Given the description of an element on the screen output the (x, y) to click on. 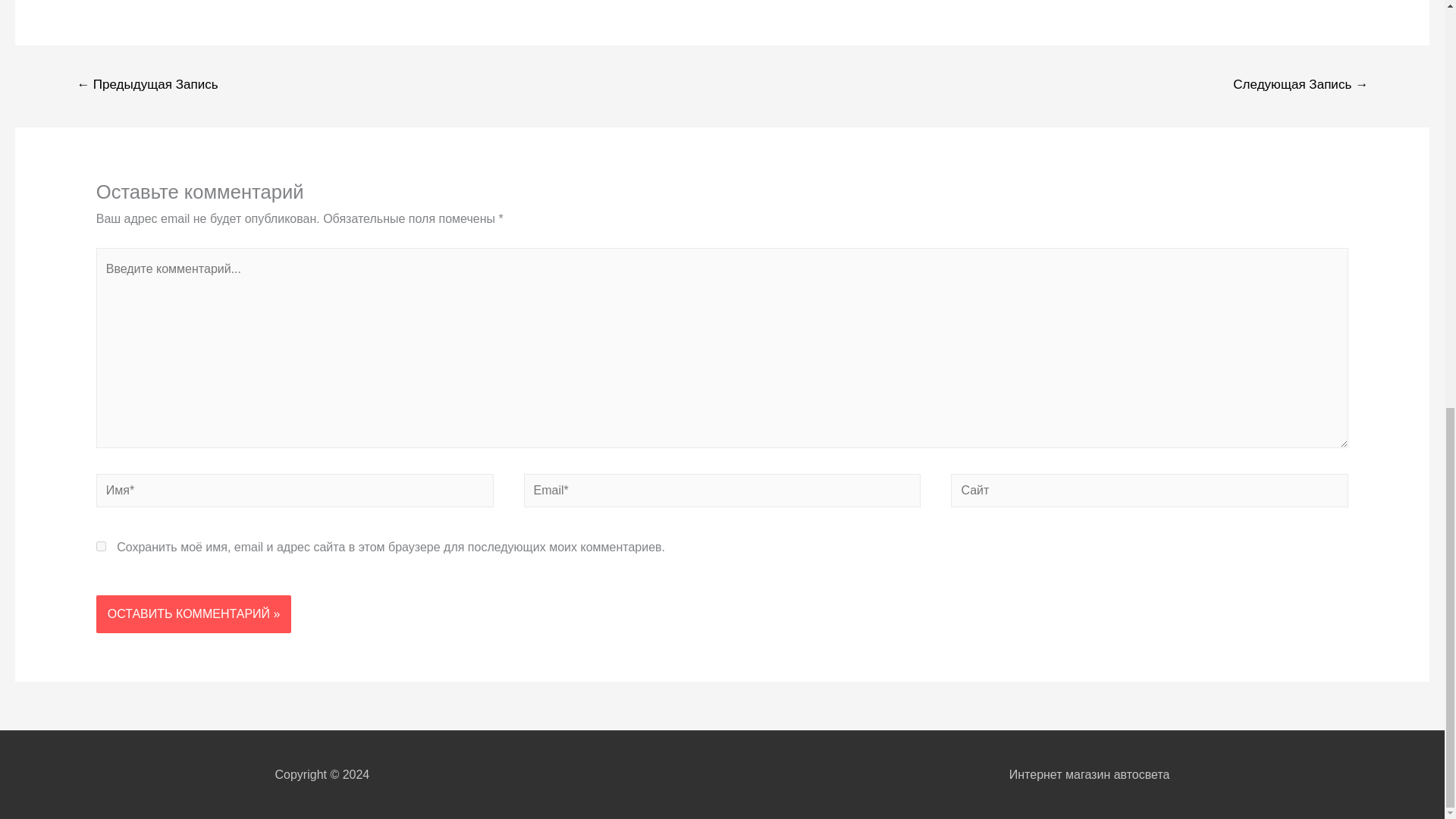
yes (101, 546)
